Given the description of an element on the screen output the (x, y) to click on. 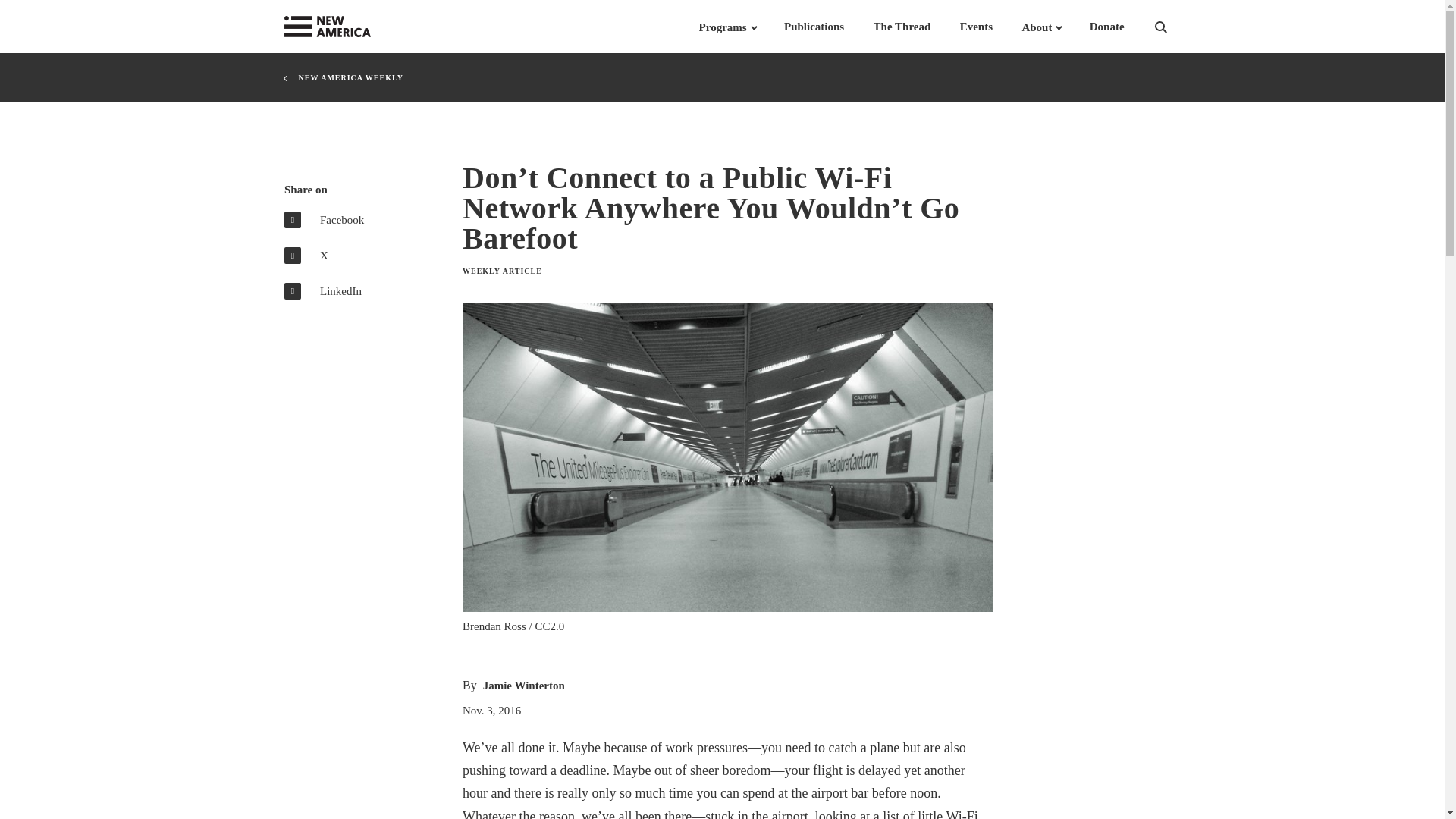
Programs (722, 26)
Search (1180, 27)
Search (1180, 27)
Search (1180, 27)
The Thread (902, 26)
New America (357, 26)
Publications (814, 26)
